Given the description of an element on the screen output the (x, y) to click on. 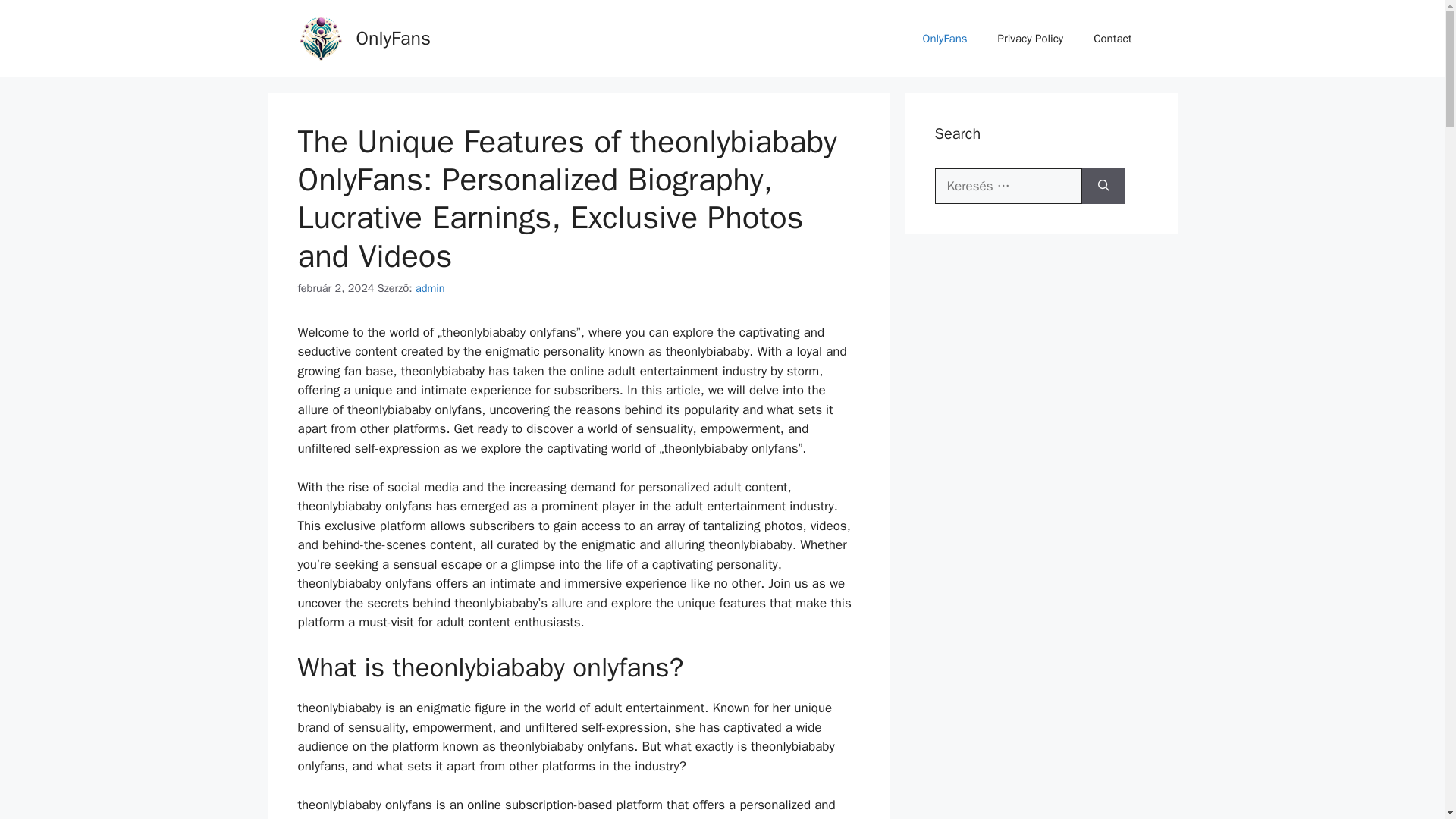
OnlyFans (393, 37)
OnlyFans (944, 38)
Privacy Policy (1030, 38)
Contact (1112, 38)
admin (429, 287)
